Given the description of an element on the screen output the (x, y) to click on. 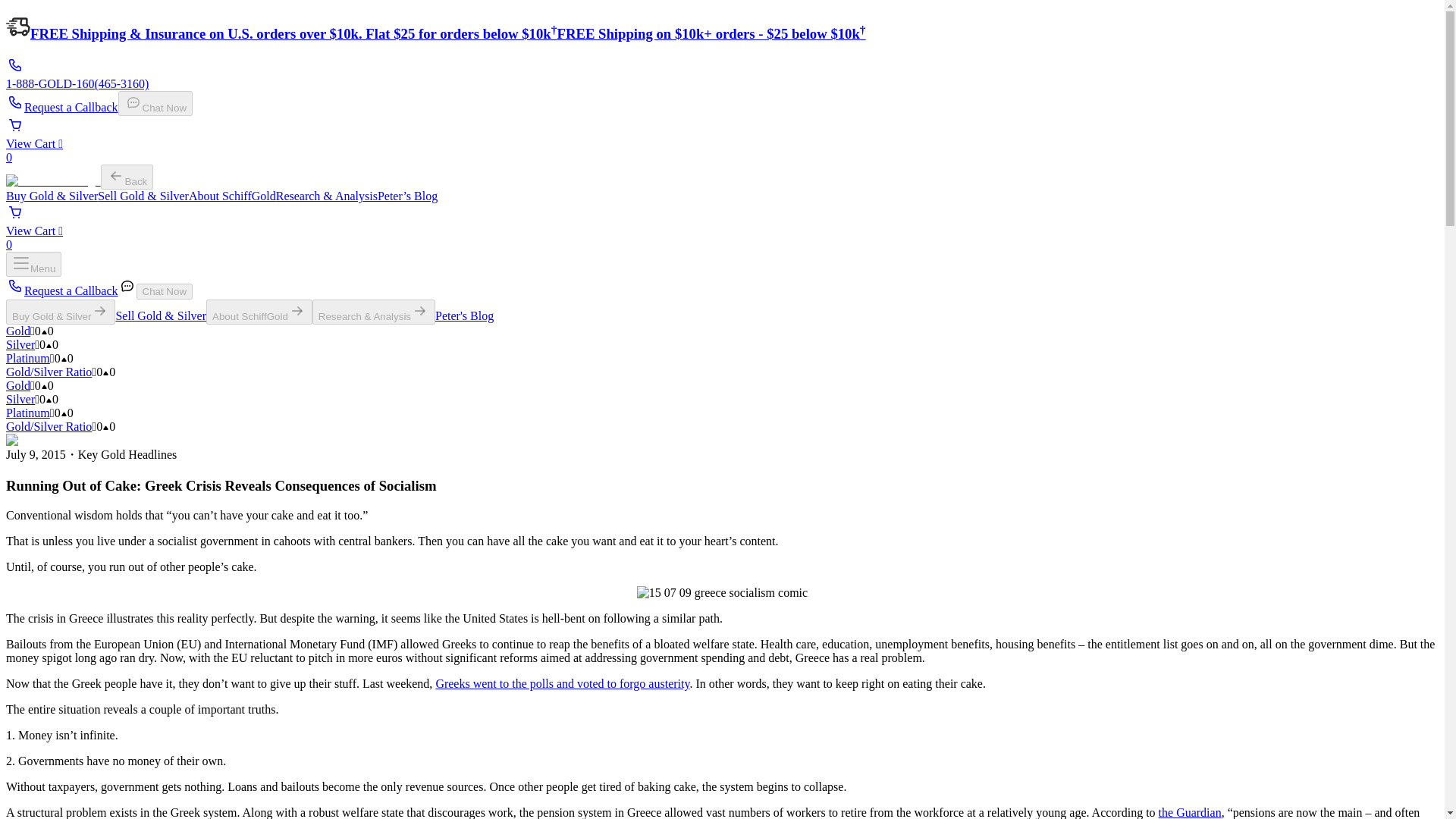
Platinum (27, 412)
Peter's Blog (464, 315)
Greeks went to the polls and voted to forgo austerity (561, 683)
Request a Callback (61, 290)
About SchiffGold (232, 195)
Platinum (27, 358)
Back (127, 176)
Silver (19, 399)
Chat Now (164, 291)
Gold (17, 385)
